Given the description of an element on the screen output the (x, y) to click on. 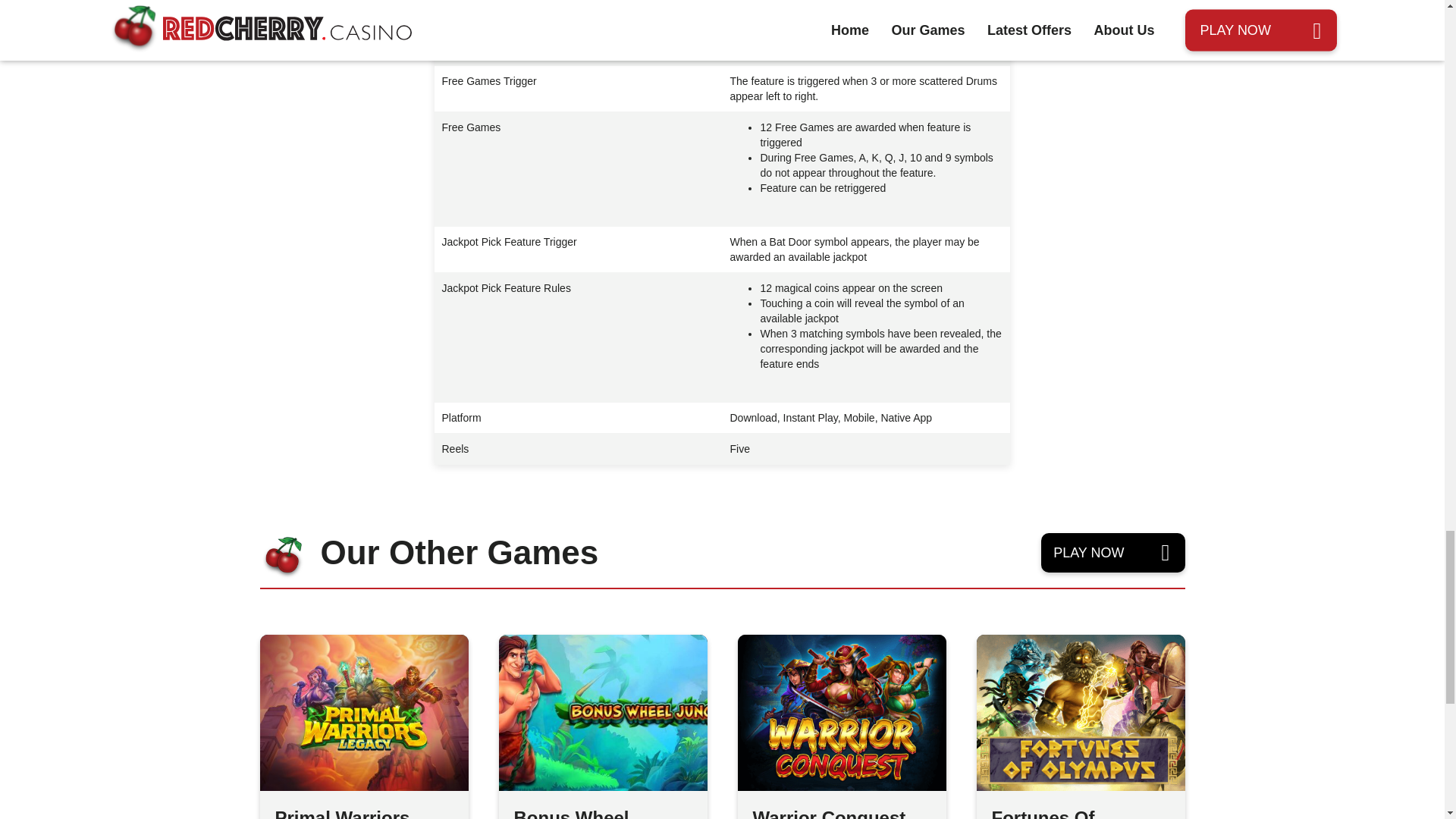
PLAY NOW (1113, 552)
